Given the description of an element on the screen output the (x, y) to click on. 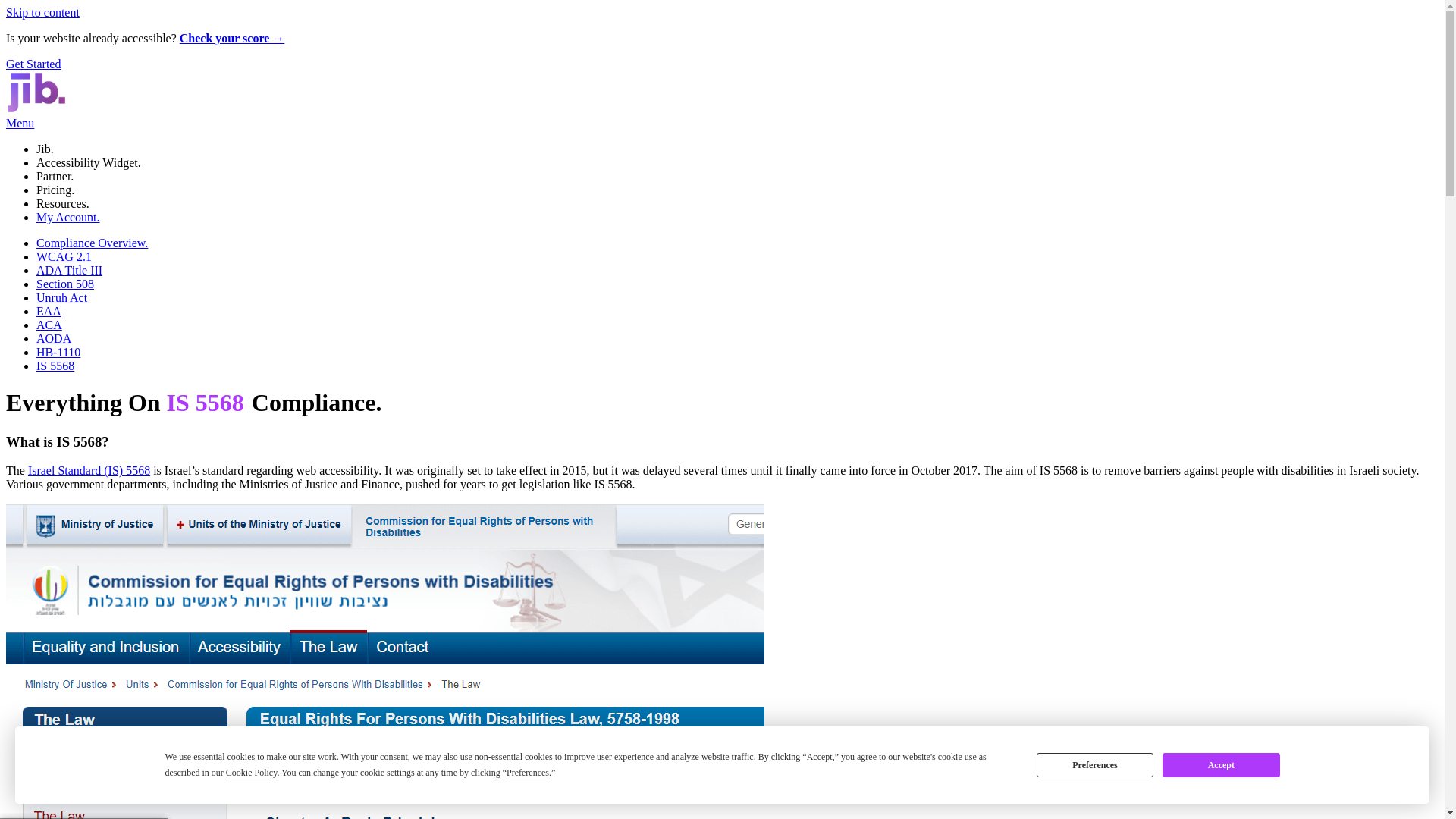
ADA Title III (68, 269)
Compliance Overview. (92, 242)
Unruh Act (61, 297)
Accessibility Widget. (88, 162)
Menu (19, 123)
Accept (1220, 764)
Section 508 (65, 283)
IS 5568 (35, 92)
AODA (53, 338)
Partner. (55, 175)
WCAG 2.1 (63, 256)
EAA (48, 310)
Preferences (1094, 764)
Pricing. (55, 189)
HB-1110 (58, 351)
